Given the description of an element on the screen output the (x, y) to click on. 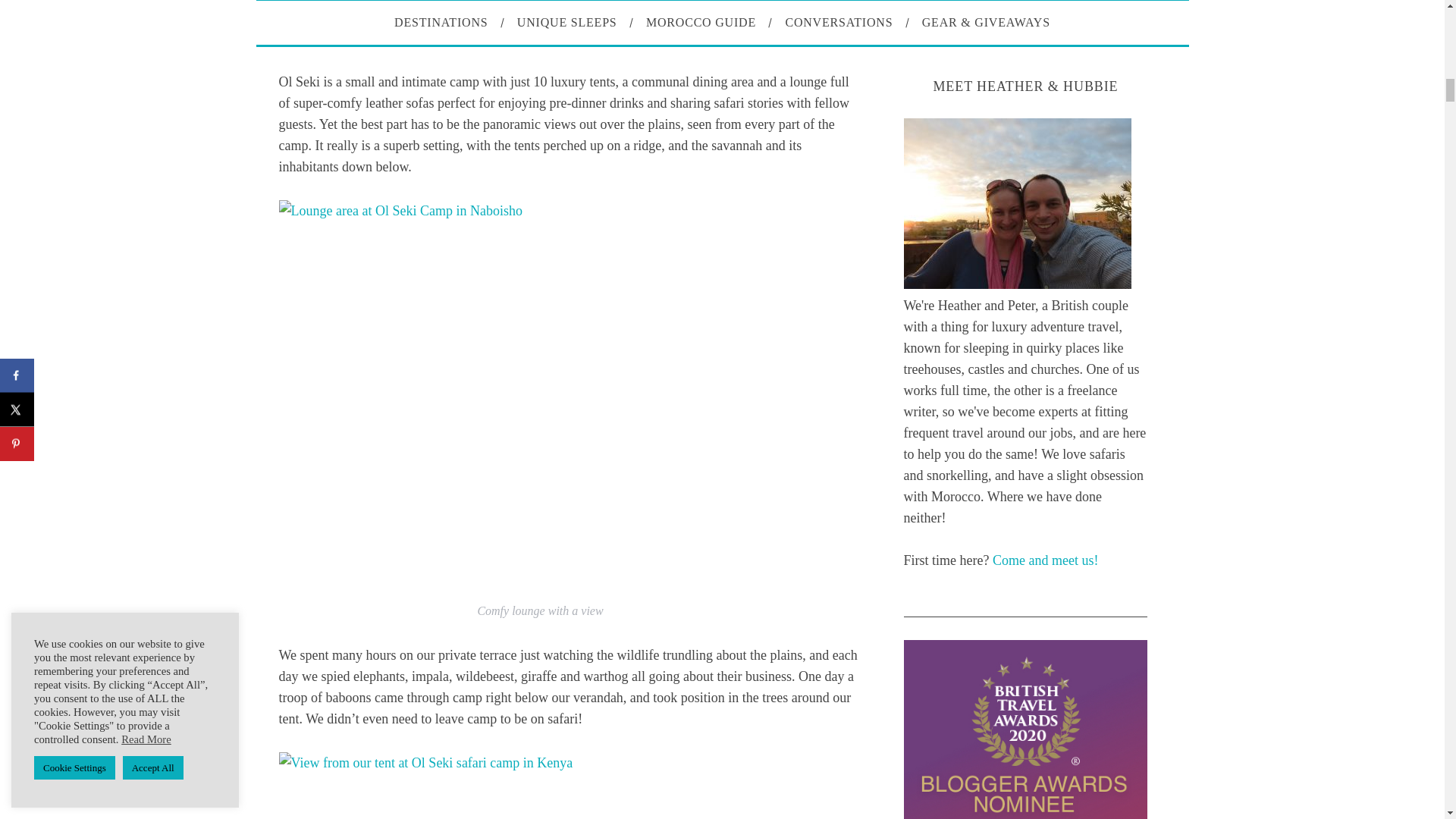
Our luxury tent at Ol Seki on our Kenya safari holiday (540, 9)
View from our tent at Ol Seki safari camp in Kenya (571, 785)
